Given the description of an element on the screen output the (x, y) to click on. 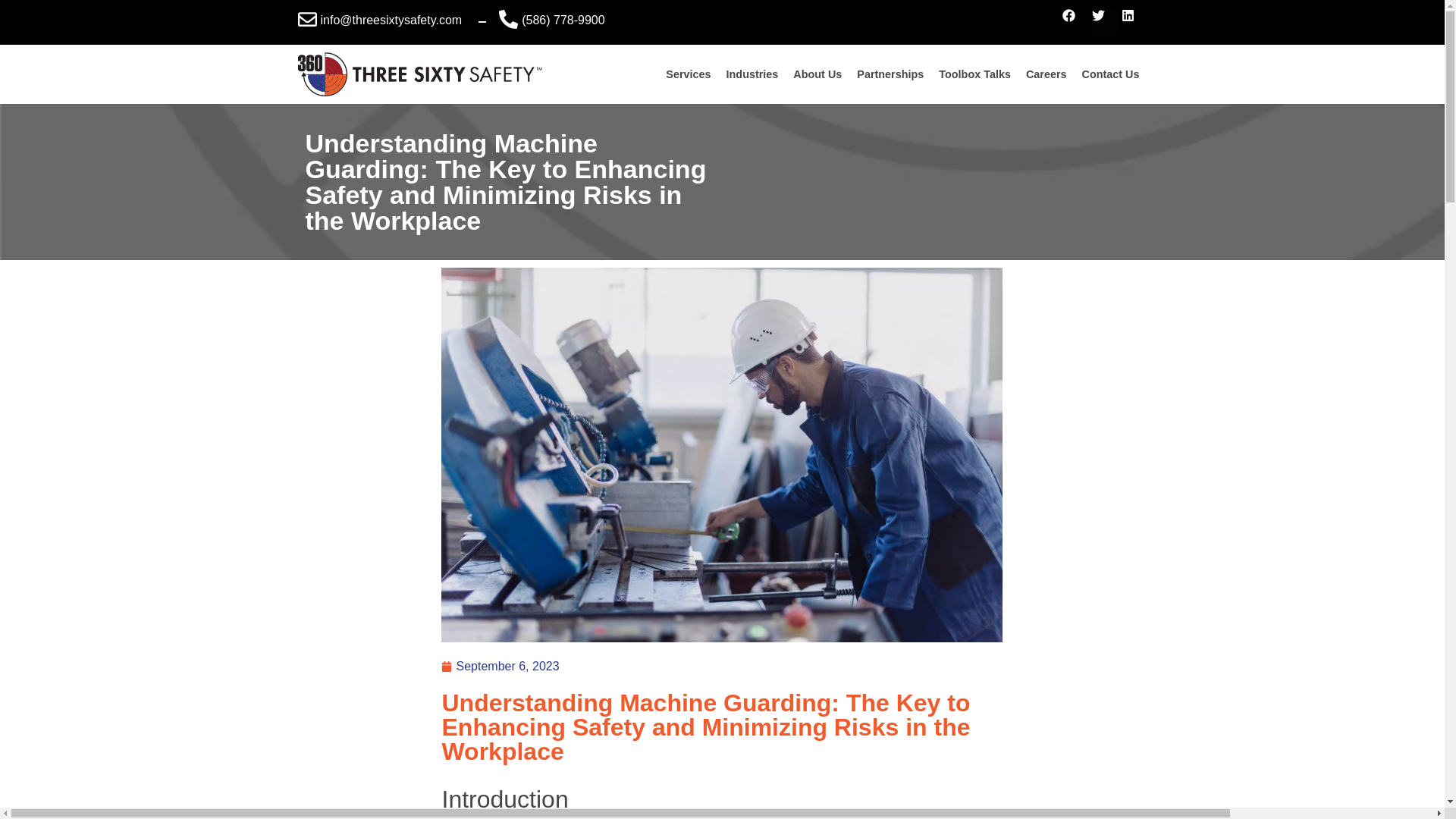
Contact Us (1110, 73)
Toolbox Talks (974, 73)
Industries (752, 73)
Careers (1045, 73)
Services (687, 73)
About Us (817, 73)
Partnerships (889, 73)
